Given the description of an element on the screen output the (x, y) to click on. 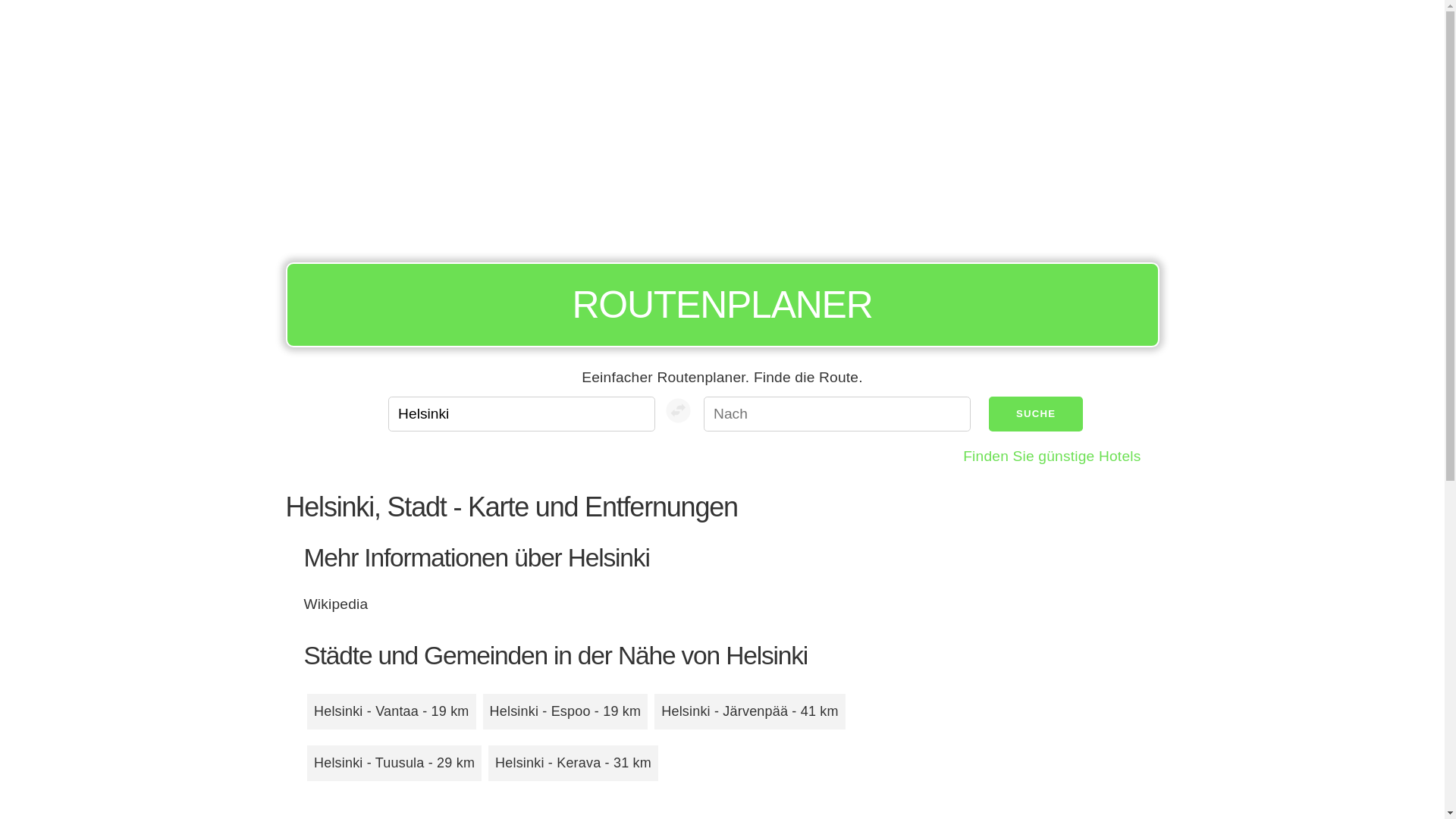
Helsinki - Tuusula - 29 km Element type: text (394, 763)
Advertisement Element type: hover (721, 126)
Wikipedia Element type: text (335, 603)
ROUTENPLANER Element type: text (721, 304)
Helsinki - Kerava - 31 km Element type: text (573, 763)
Helsinki - Espoo - 19 km Element type: text (565, 711)
SUCHE Element type: text (1035, 413)
Helsinki - Vantaa - 19 km Element type: text (391, 711)
